Given the description of an element on the screen output the (x, y) to click on. 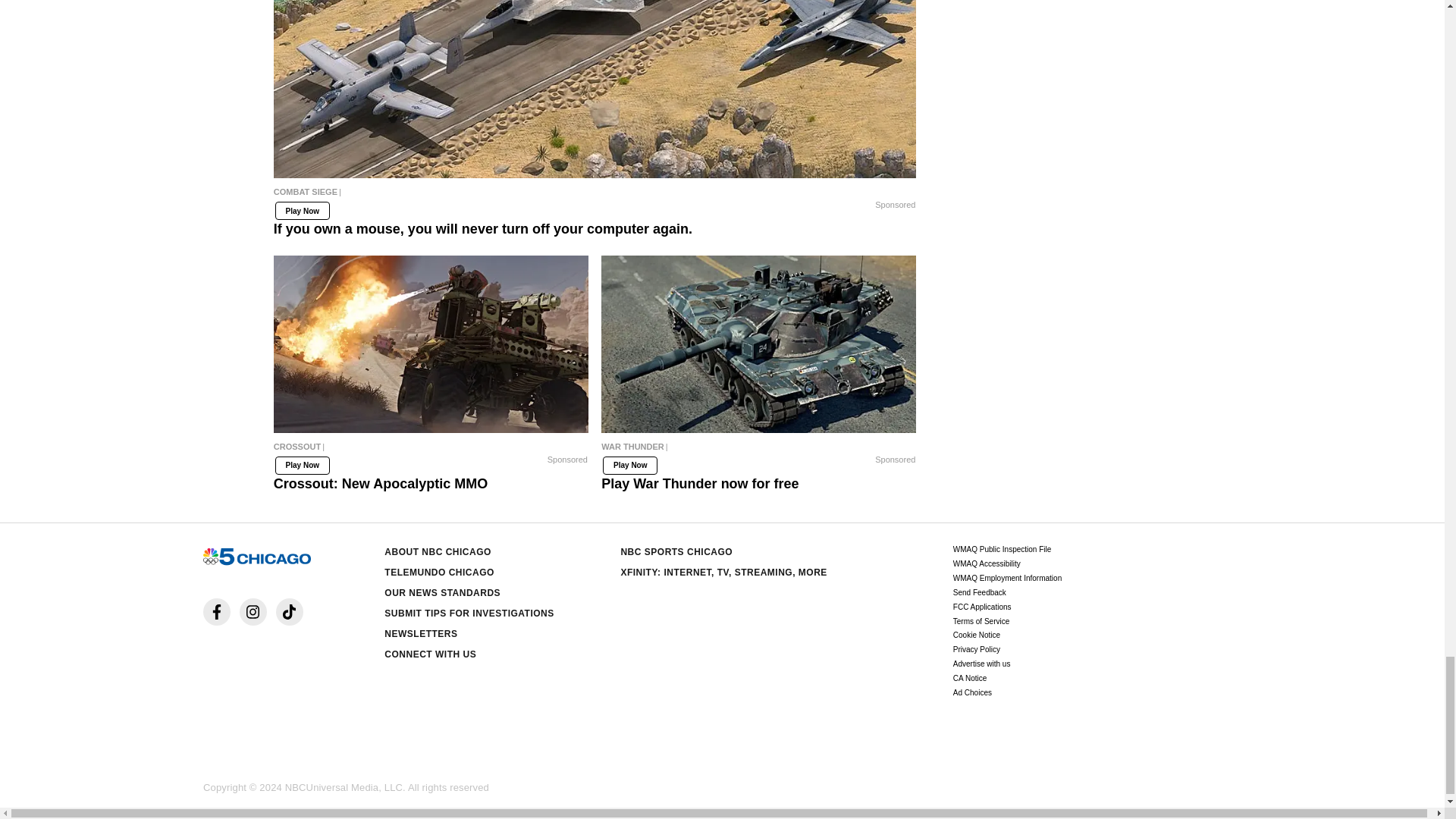
Crossout: New Apocalyptic MMO (430, 450)
Crossout: New Apocalyptic MMO (430, 344)
Play War Thunder now for free (758, 344)
